Given the description of an element on the screen output the (x, y) to click on. 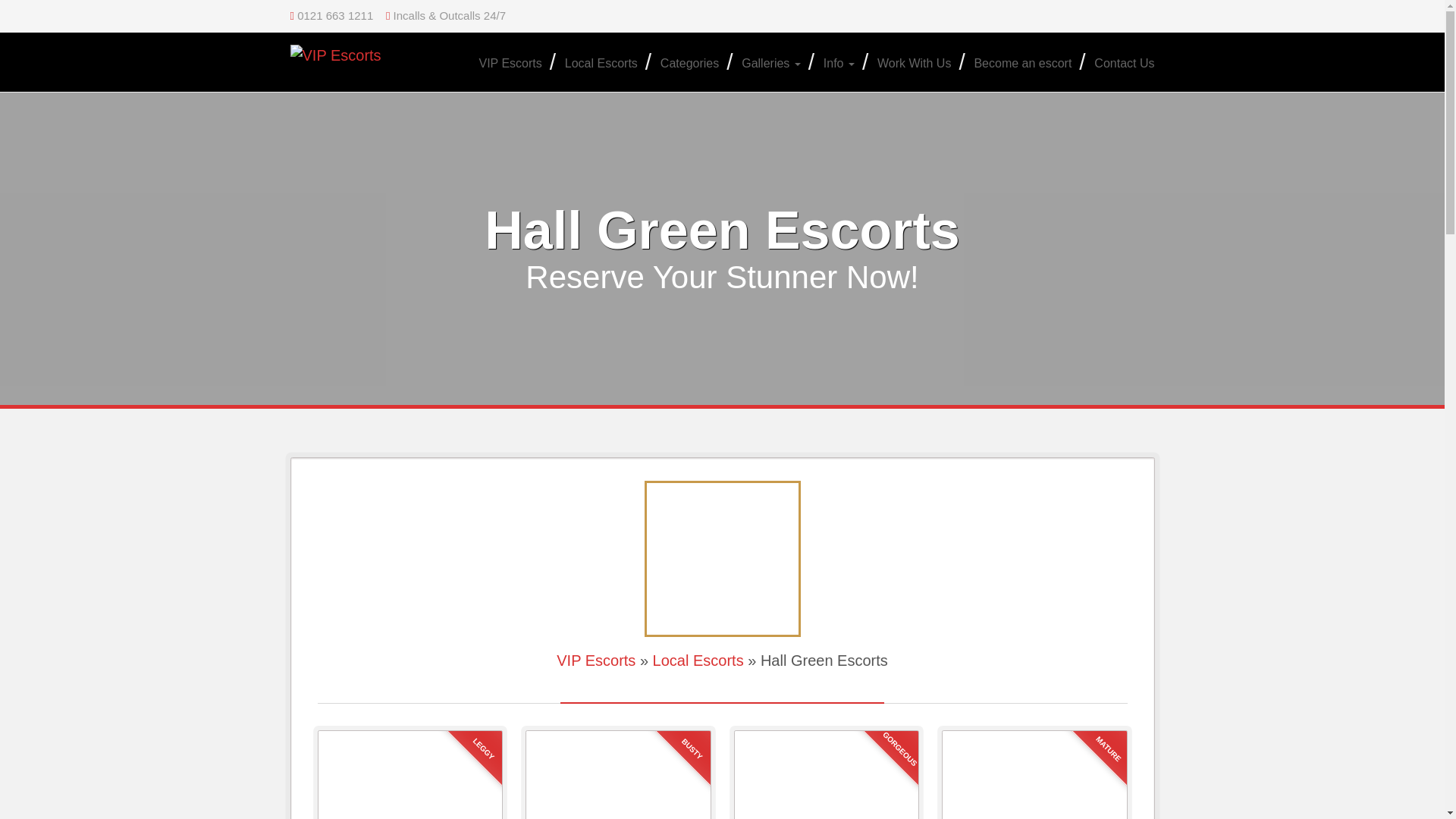
Galleries (771, 63)
Info (839, 63)
Become an escort (1022, 63)
Info (839, 63)
Categories (689, 63)
Galleries (771, 63)
Categories (689, 63)
Work With Us (914, 63)
VIP Escorts (510, 63)
VIP Escorts (510, 63)
Become an escort (1022, 63)
Contact Us (1118, 63)
Local Escorts (698, 660)
Contact Us (1118, 63)
Local Escorts (601, 63)
